Given the description of an element on the screen output the (x, y) to click on. 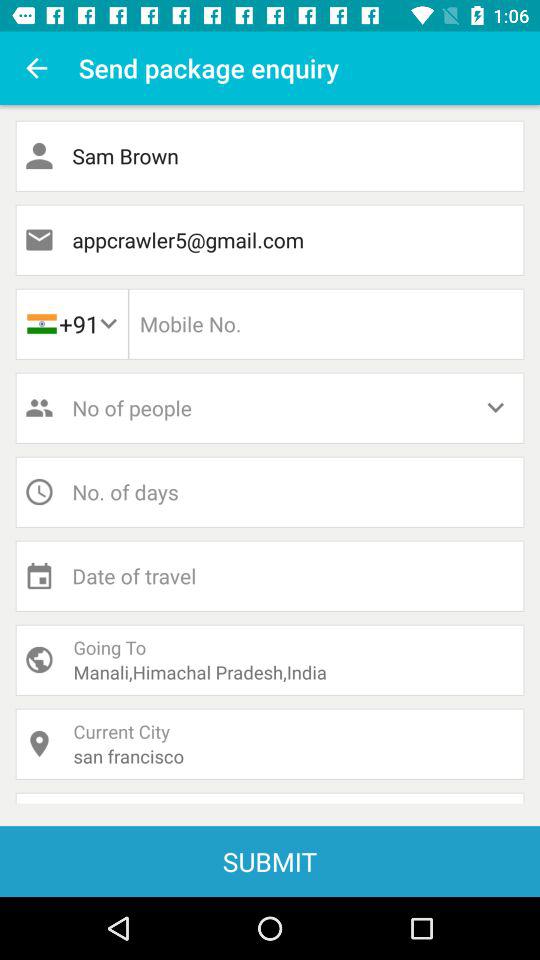
input number of days (269, 491)
